Given the description of an element on the screen output the (x, y) to click on. 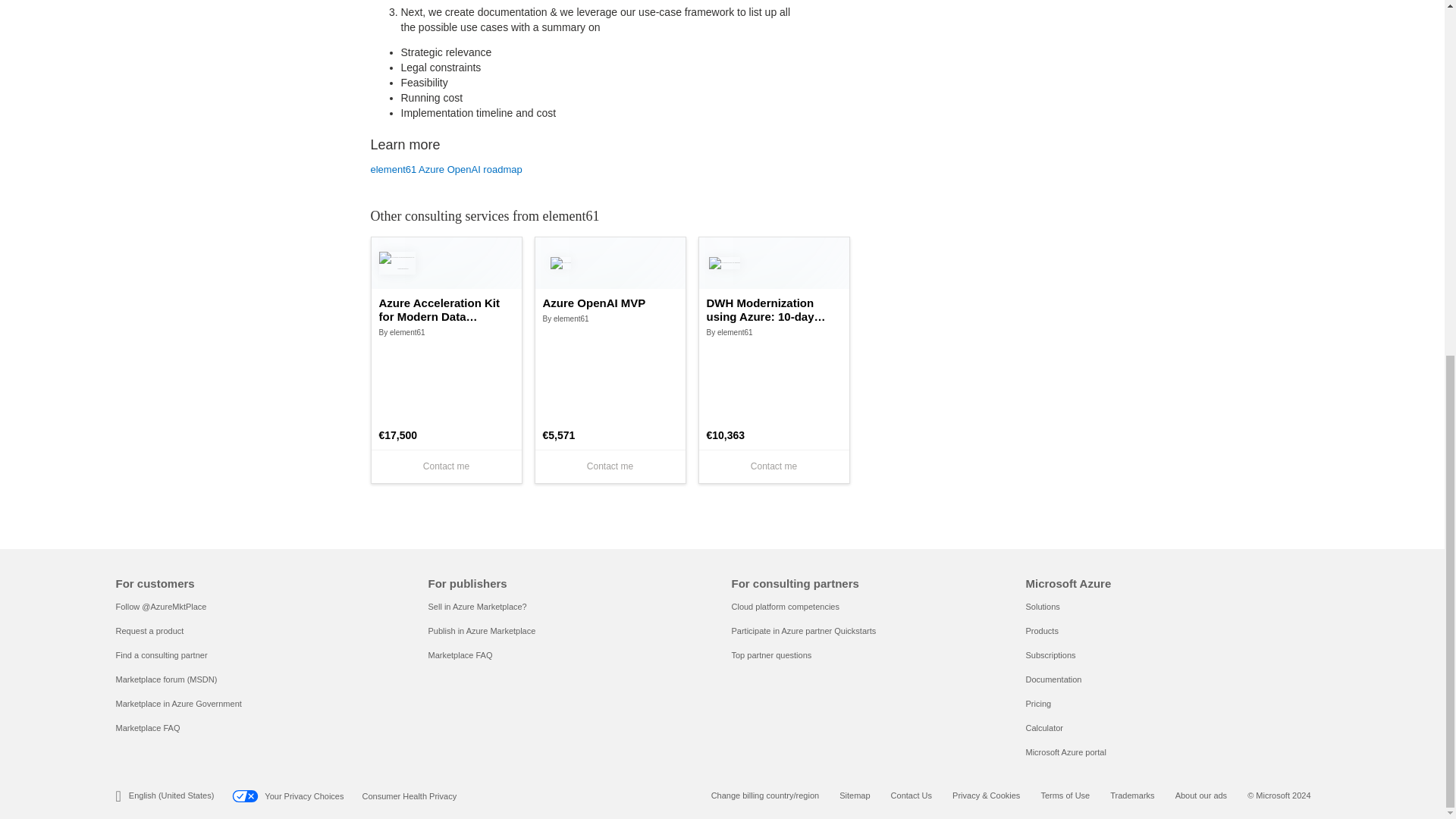
Azure OpenAI MVP (610, 303)
DWH Modernization using Azure: 10-day assessment (773, 309)
